Given the description of an element on the screen output the (x, y) to click on. 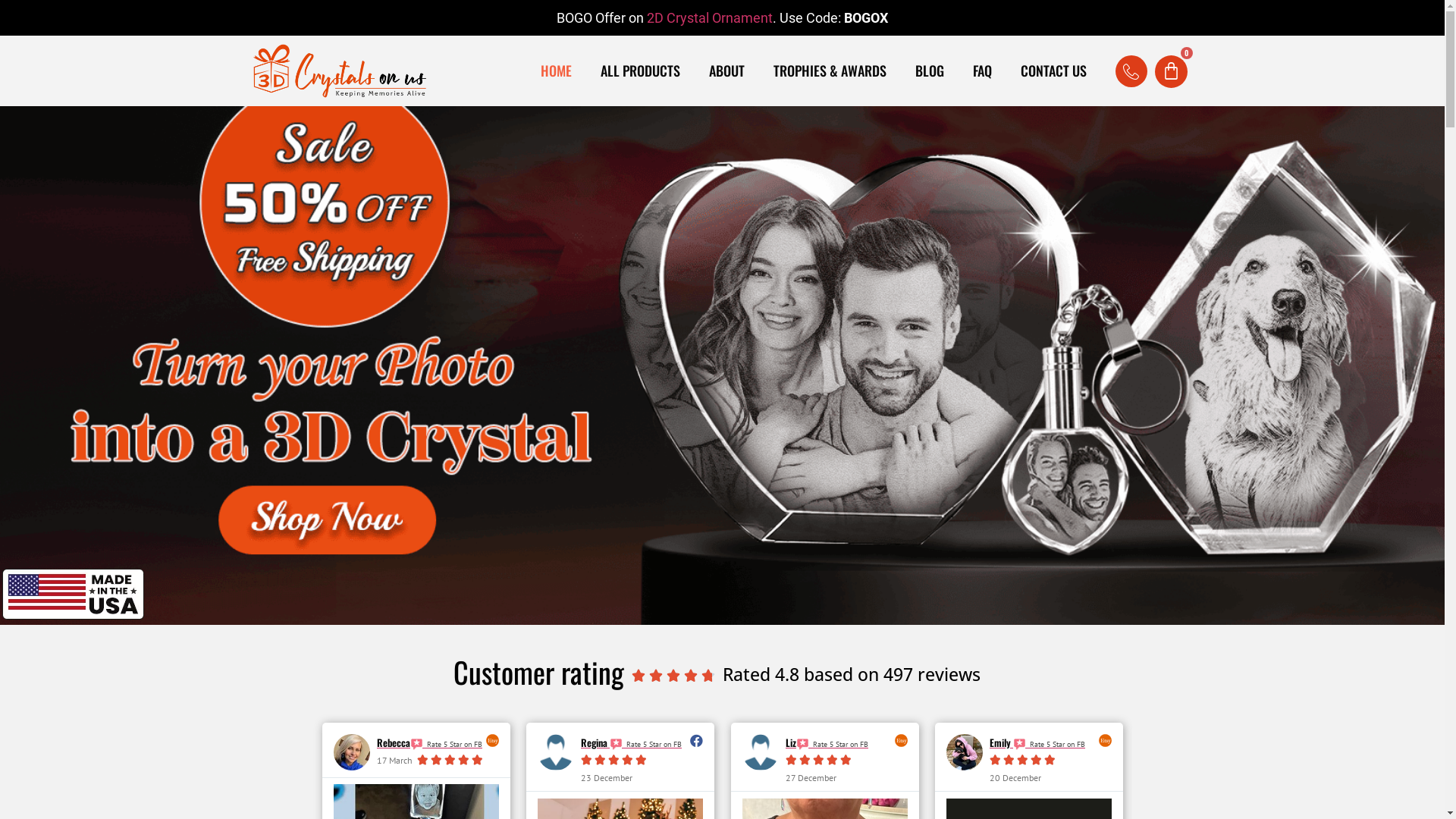
TROPHIES & AWARDS Element type: text (829, 70)
BLOG Element type: text (929, 70)
CONTACT US Element type: text (1053, 70)
FAQ Element type: text (982, 70)
ALL PRODUCTS Element type: text (639, 70)
ABOUT Element type: text (726, 70)
HOME Element type: text (556, 70)
2D Crystal Ornament Element type: text (709, 17)
